Given the description of an element on the screen output the (x, y) to click on. 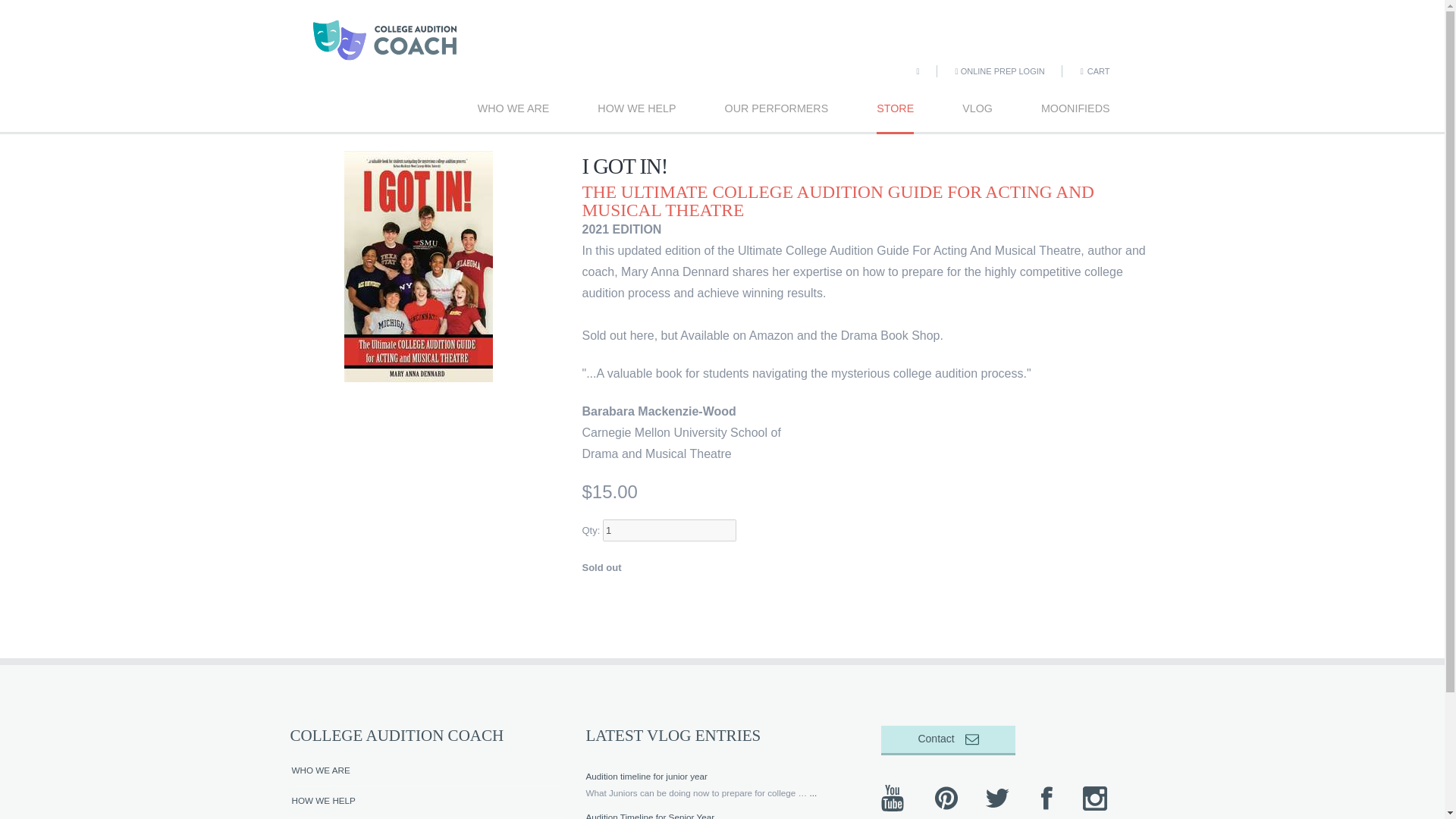
OUR PERFORMERS (776, 108)
1 (669, 530)
MOONIFIEDS (1075, 108)
Instagram (1095, 798)
VLOG (977, 108)
Audition timeline for junior year (645, 776)
YouTube (895, 798)
HOW WE HELP (425, 802)
Audition Timeline for Senior Year (649, 815)
ONLINE PREP LOGIN (1000, 70)
